Given the description of an element on the screen output the (x, y) to click on. 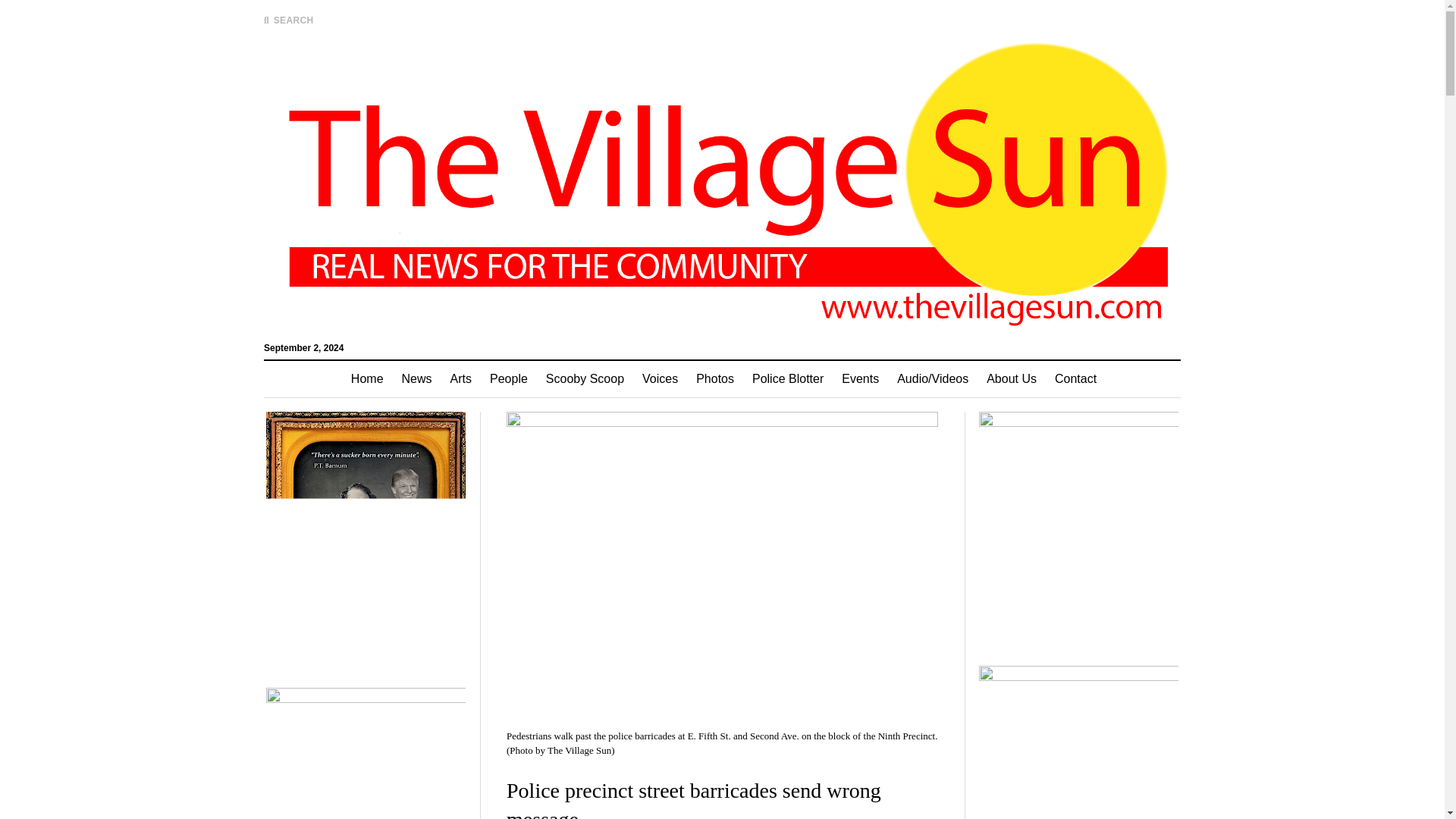
SEARCH (288, 20)
News (417, 379)
About Us (1010, 379)
Photos (714, 379)
Scooby Scoop (585, 379)
People (508, 379)
Voices (660, 379)
Contact (1075, 379)
Events (860, 379)
Search (945, 129)
